Given the description of an element on the screen output the (x, y) to click on. 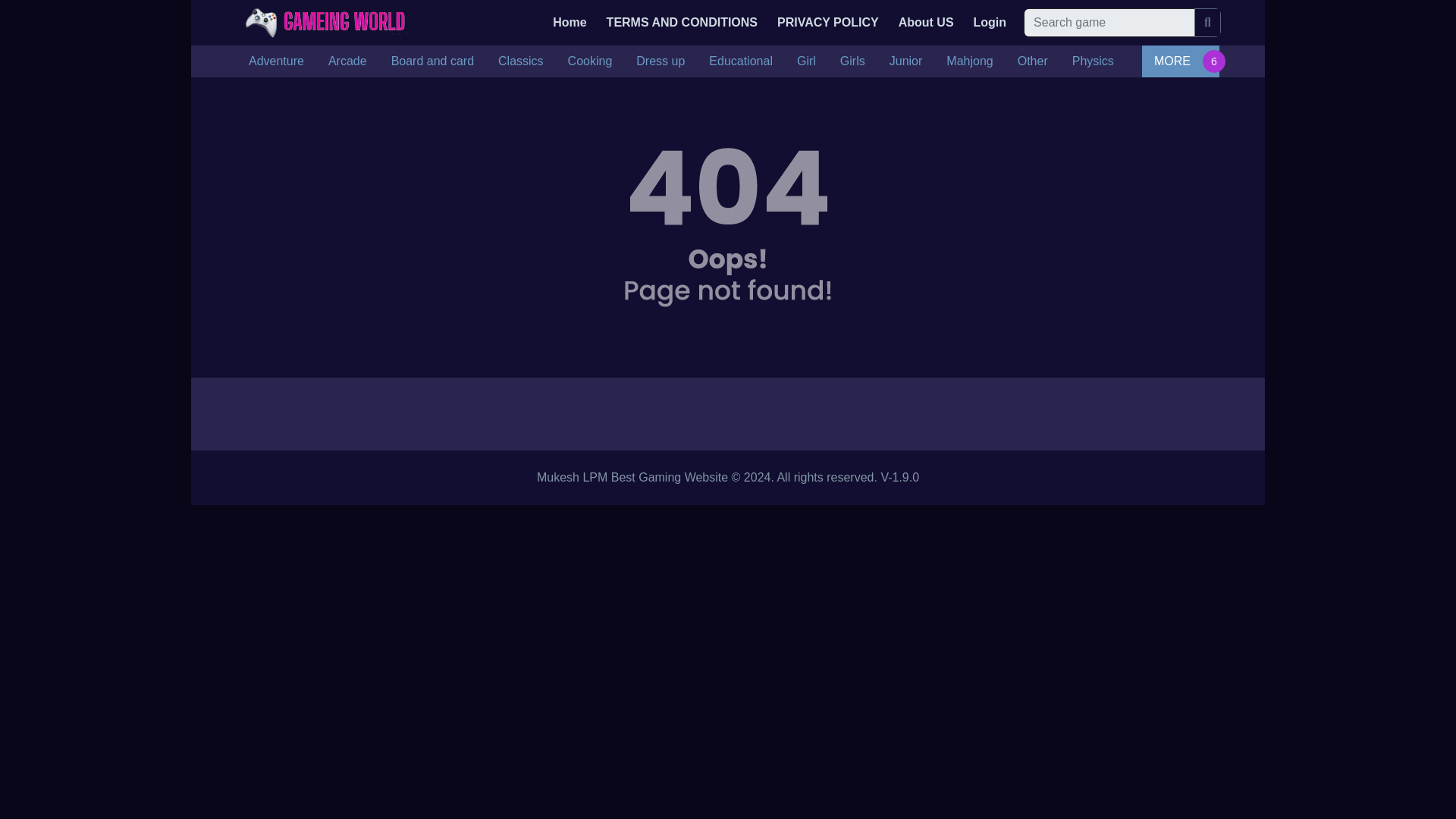
About US (925, 22)
Physics (1092, 60)
Girl (806, 60)
Educational (740, 60)
Login (990, 22)
Home (569, 22)
Dress up (660, 60)
Arcade (346, 60)
Board and card (432, 60)
Mahjong (969, 60)
TERMS AND CONDITIONS (680, 22)
Girls (852, 60)
MORE (1180, 60)
Classics (521, 60)
Junior (905, 60)
